Given the description of an element on the screen output the (x, y) to click on. 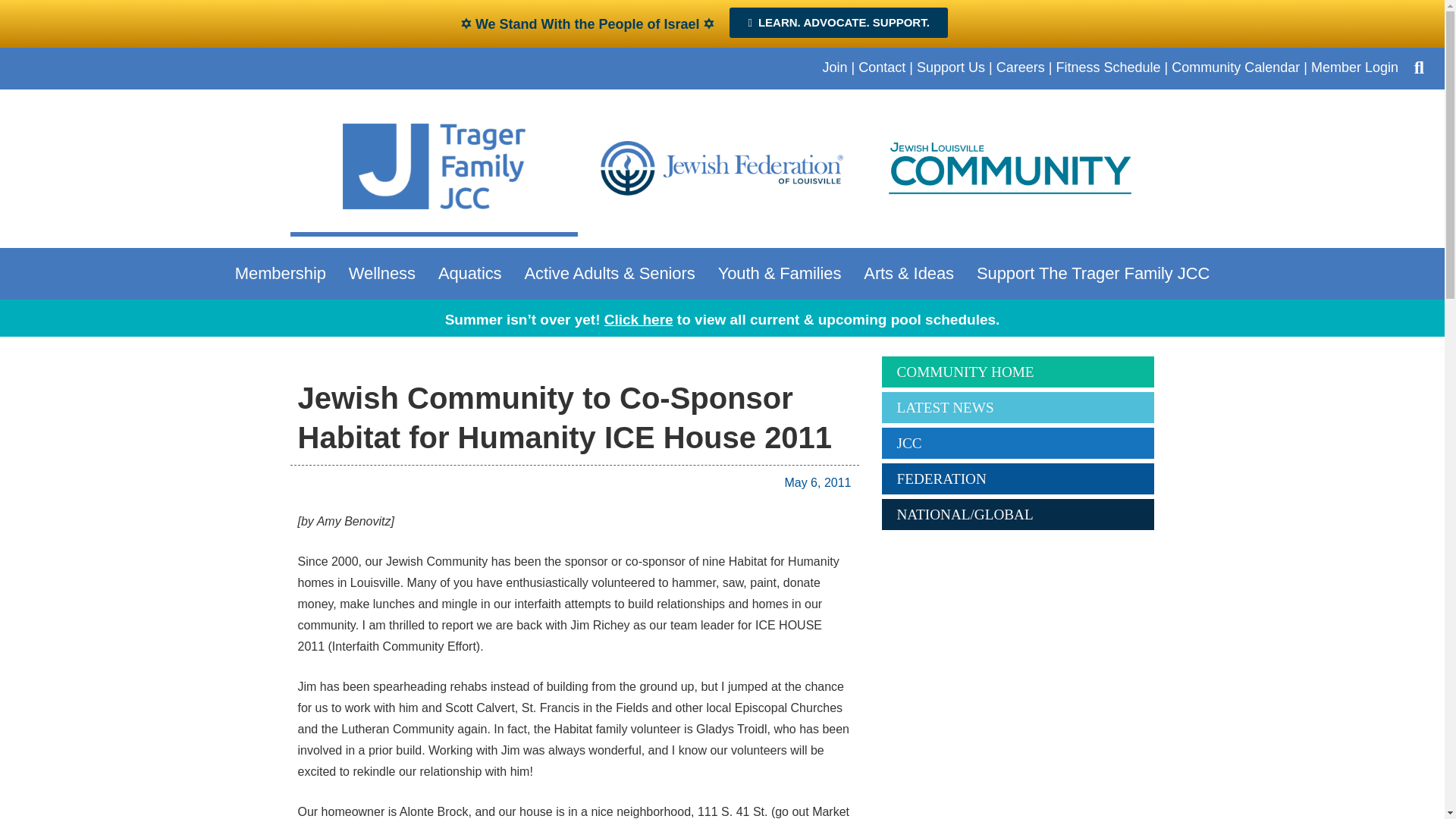
Support Us (951, 67)
Aquatics (473, 273)
Wellness (385, 273)
Member Login (1354, 67)
Community Calendar (1236, 67)
Membership (283, 273)
LEARN. ADVOCATE. SUPPORT. (838, 22)
Careers (1020, 67)
Fitness Schedule (1107, 67)
Join (834, 67)
